Given the description of an element on the screen output the (x, y) to click on. 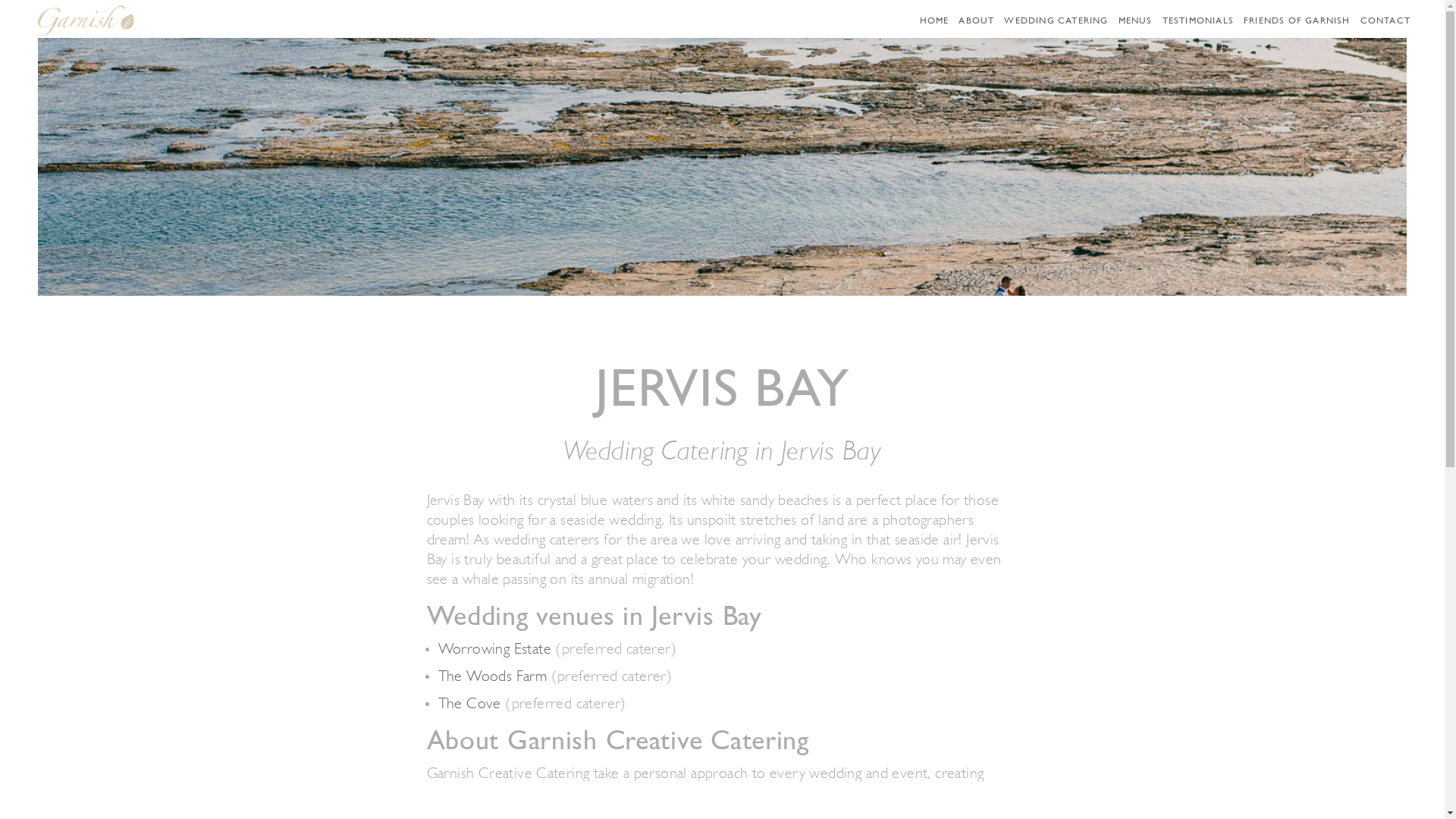
Worrowing Estate Element type: text (494, 649)
The Woods Farm Element type: text (492, 676)
HOME Element type: text (934, 27)
MENUS Element type: text (1135, 27)
TESTIMONIALS Element type: text (1197, 27)
ABOUT Element type: text (976, 27)
WEDDING CATERING Element type: text (1055, 27)
CONTACT Element type: text (1385, 27)
The Cove Element type: text (469, 704)
FRIENDS OF GARNISH Element type: text (1296, 27)
